Given the description of an element on the screen output the (x, y) to click on. 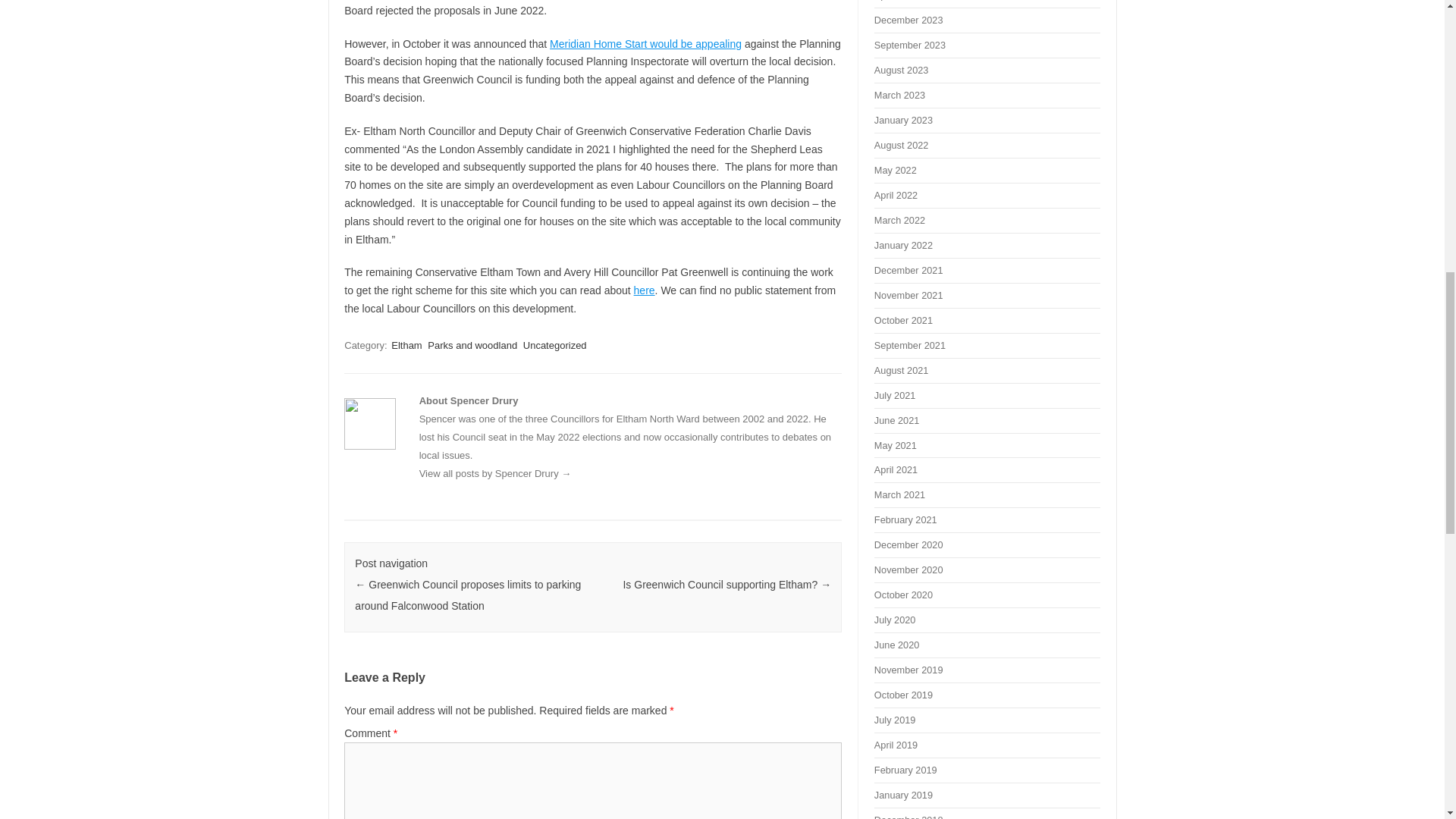
Meridian Home Start would be appealing (645, 43)
here (644, 290)
December 2023 (909, 19)
Uncategorized (554, 345)
August 2023 (901, 70)
April 2024 (896, 0)
Eltham (406, 345)
March 2023 (899, 94)
Parks and woodland (472, 345)
January 2023 (904, 120)
